Given the description of an element on the screen output the (x, y) to click on. 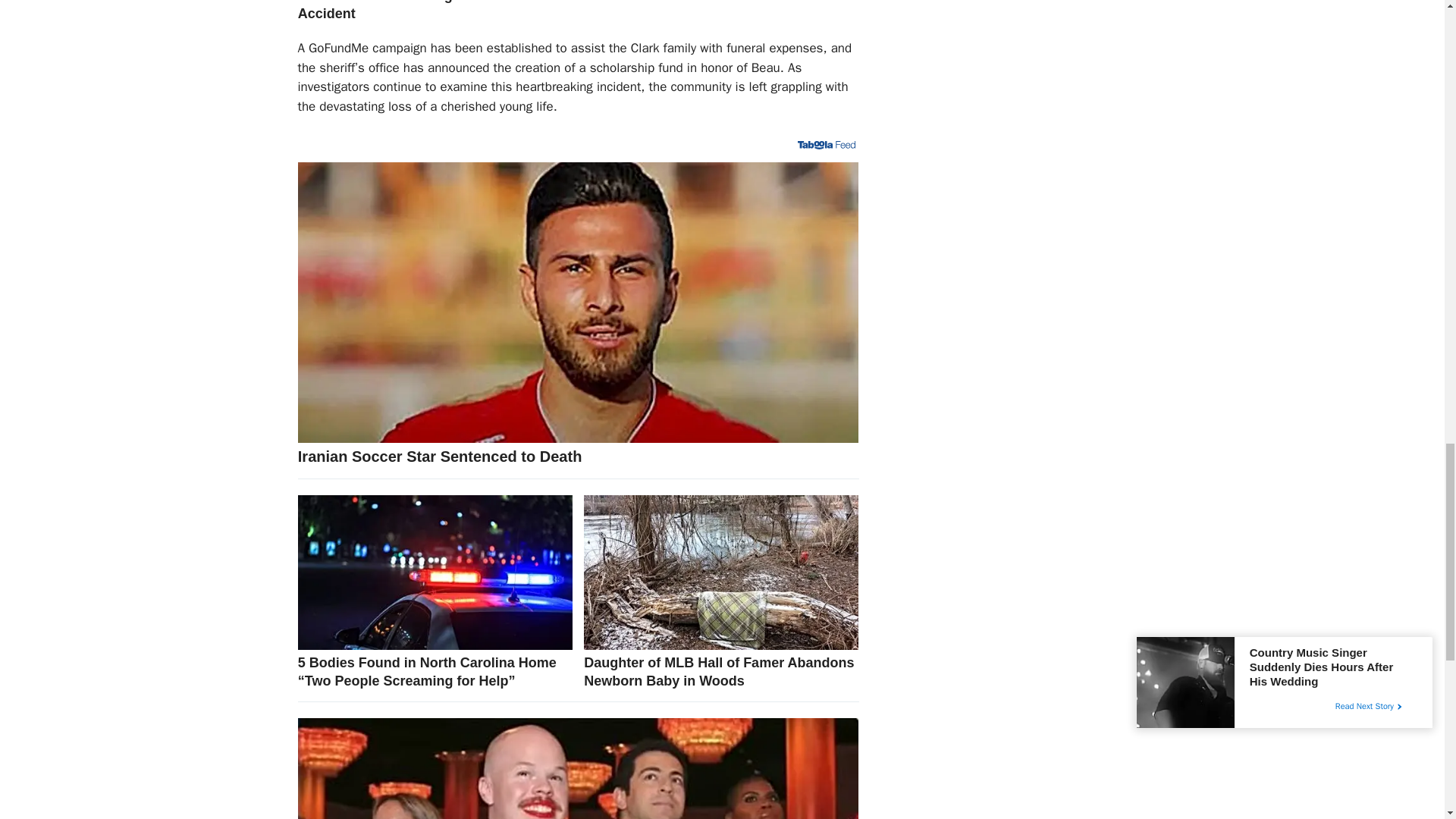
Mother of 5 Dies in Tragic Fire Pit Accident (435, 11)
Teen Kills Girlfriend Over Phone Call (721, 2)
Mother of 5 Dies in Tragic Fire Pit Accident (435, 11)
